Given the description of an element on the screen output the (x, y) to click on. 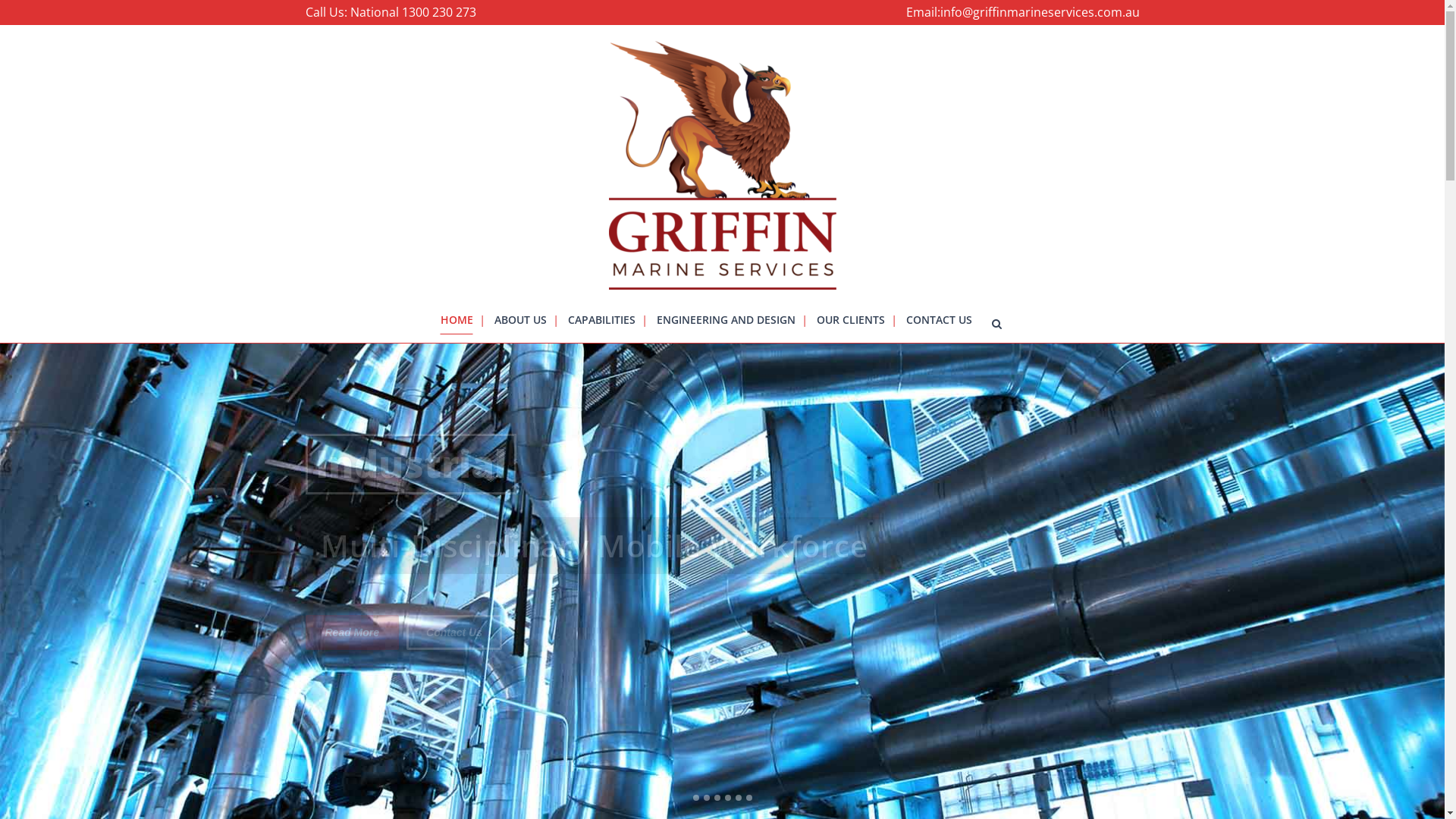
Read More Element type: text (351, 632)
ABOUT US Element type: text (520, 319)
Contact Us Element type: text (454, 632)
CAPABILITIES Element type: text (600, 319)
info@griffinmarineservices.com.au Element type: text (1039, 11)
OUR CLIENTS Element type: text (849, 319)
HOME Element type: text (459, 319)
ENGINEERING AND DESIGN Element type: text (726, 319)
CONTACT US Element type: text (938, 319)
